Given the description of an element on the screen output the (x, y) to click on. 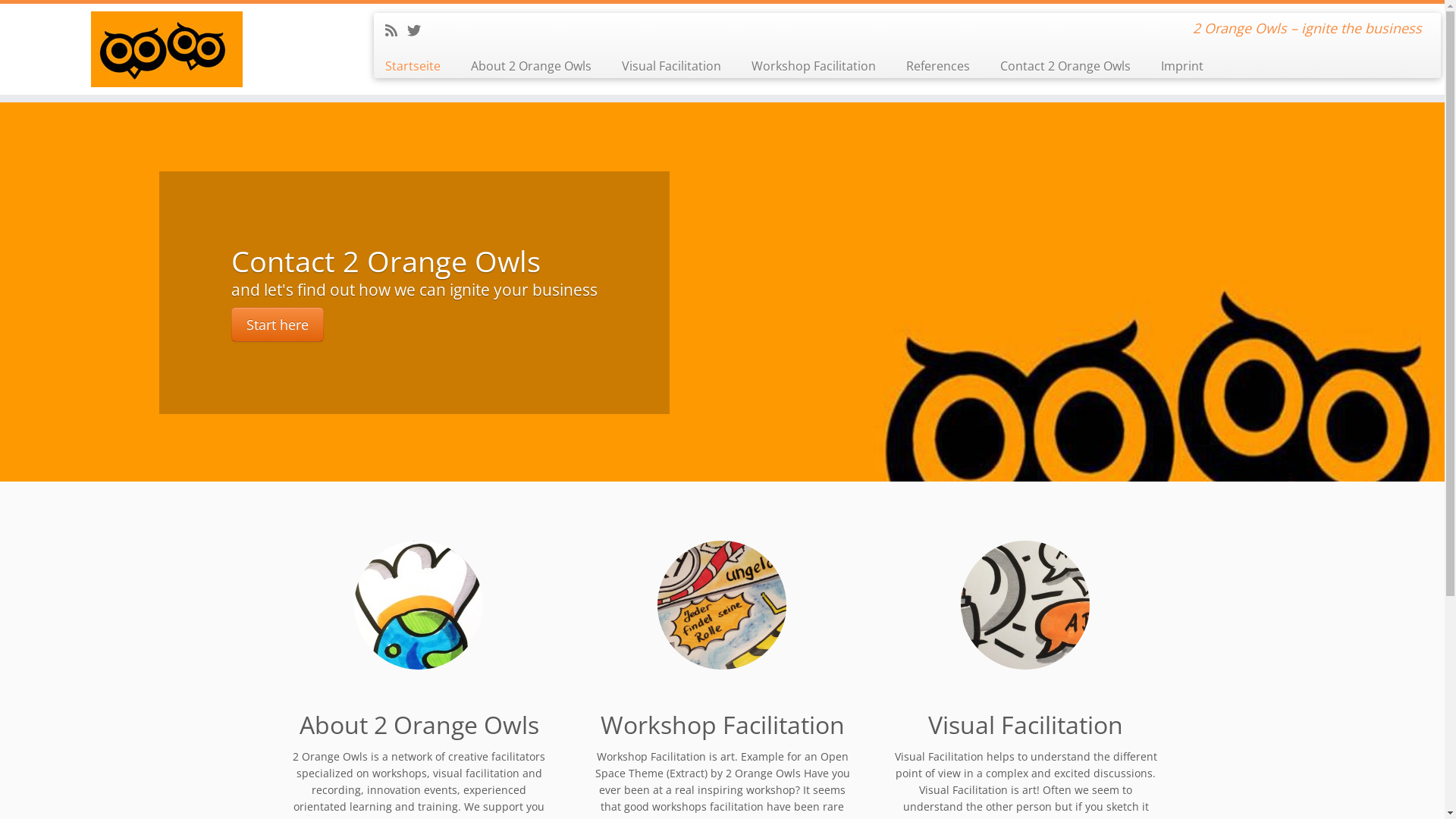
Start here Element type: text (277, 324)
Follow me on Twitter Element type: hover (418, 30)
Startseite Element type: text (418, 65)
Imprint Element type: text (1174, 65)
Subscribe to my rss feed Element type: hover (396, 30)
Contact 2 Orange Owls Element type: text (1065, 65)
Workshop Facilitation Element type: text (813, 65)
Visual Facilitation Element type: text (671, 65)
About 2 Orange Owls Element type: text (530, 65)
References Element type: text (938, 65)
